Given the description of an element on the screen output the (x, y) to click on. 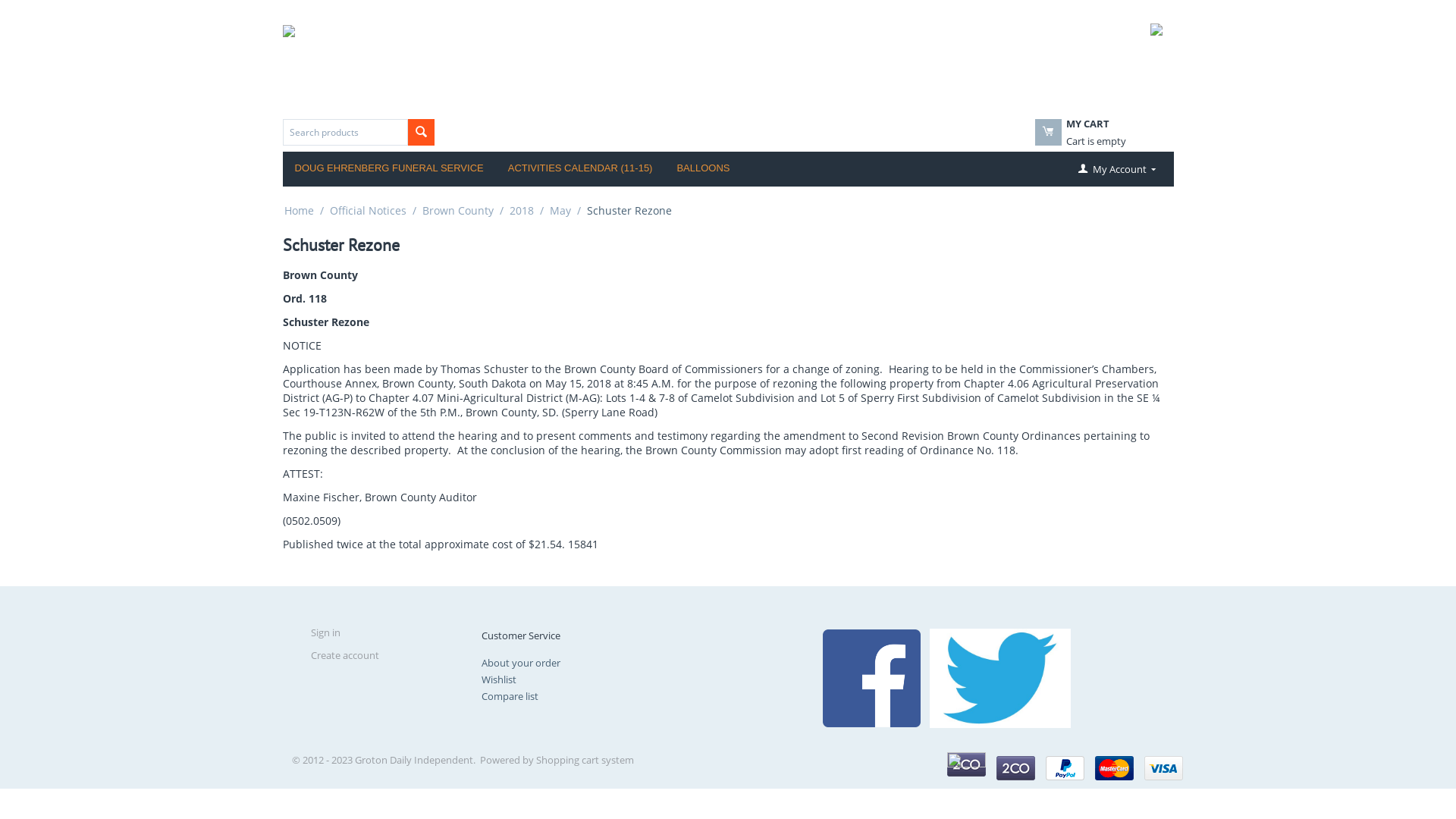
Official Notices Element type: text (367, 210)
BALLOONS Element type: text (702, 168)
ACTIVITIES CALENDAR (11-15) Element type: text (580, 168)
Wishlist Element type: text (498, 679)
Search products Element type: hover (344, 132)
Brown County Element type: text (457, 210)
Groton Daily Independent Element type: hover (443, 62)
  My Account Element type: text (1115, 168)
About your order Element type: text (520, 662)
Sign in Element type: text (325, 632)
Groton Daily Independent Element type: hover (443, 61)
May Element type: text (559, 210)
Home Element type: text (298, 210)
Create account Element type: text (344, 655)
Search Element type: hover (420, 132)
Compare list Element type: text (509, 695)
Shopping cart system Element type: text (584, 759)
2018 Element type: text (521, 210)
DOUG EHRENBERG FUNERAL SERVICE Element type: text (388, 168)
MY CART
Cart is empty Element type: text (1093, 140)
